Given the description of an element on the screen output the (x, y) to click on. 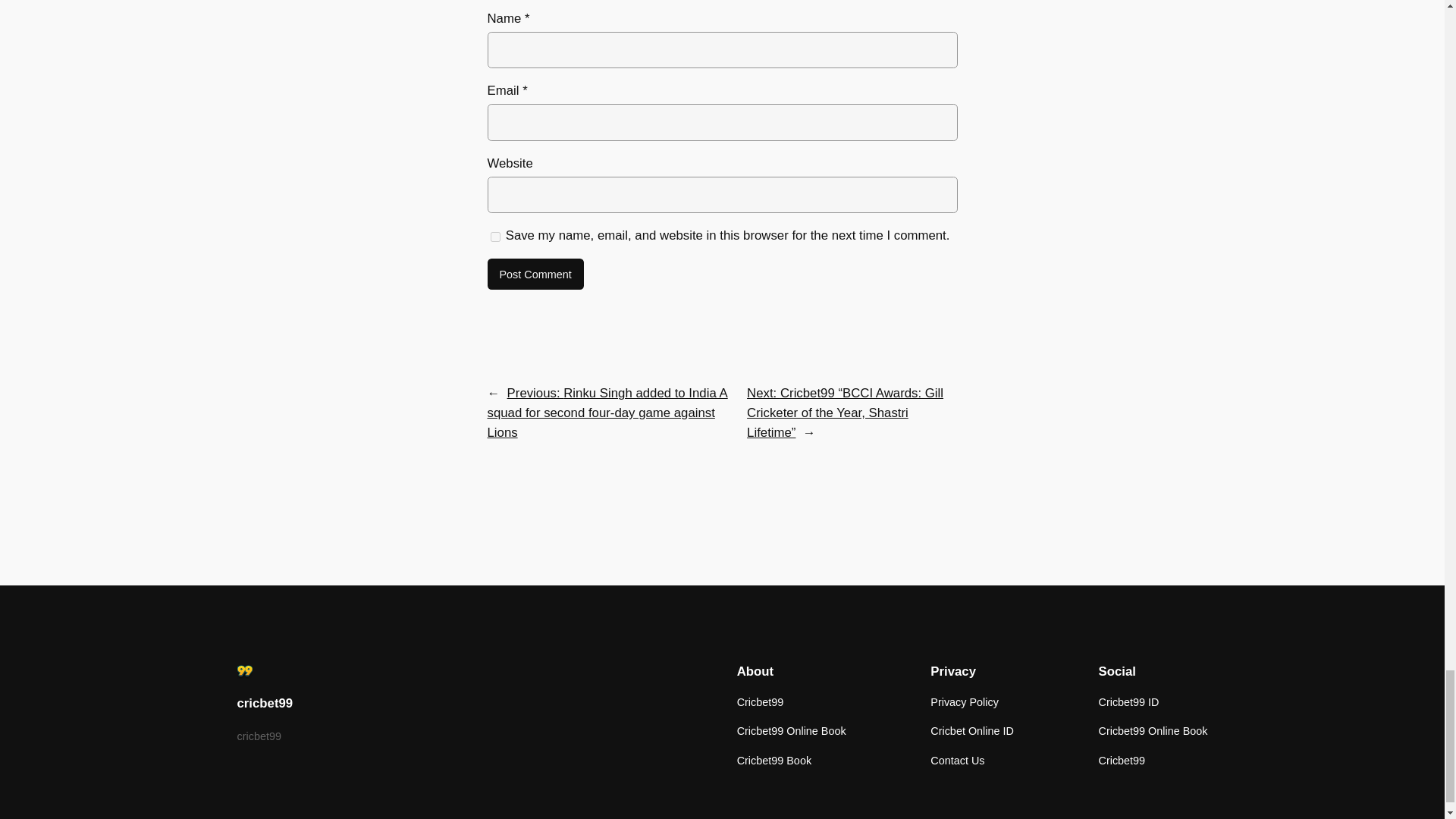
Cricbet99 ID (1127, 701)
cricbet99 (263, 703)
Post Comment (534, 274)
Cricbet Online ID (971, 730)
Privacy Policy (964, 701)
Post Comment (534, 274)
Cricbet99 Online Book (1152, 730)
Cricbet99 (1120, 760)
Contact Us (957, 760)
Cricbet99 Online Book (790, 730)
Cricbet99 (760, 701)
Cricbet99 Book (773, 760)
